Given the description of an element on the screen output the (x, y) to click on. 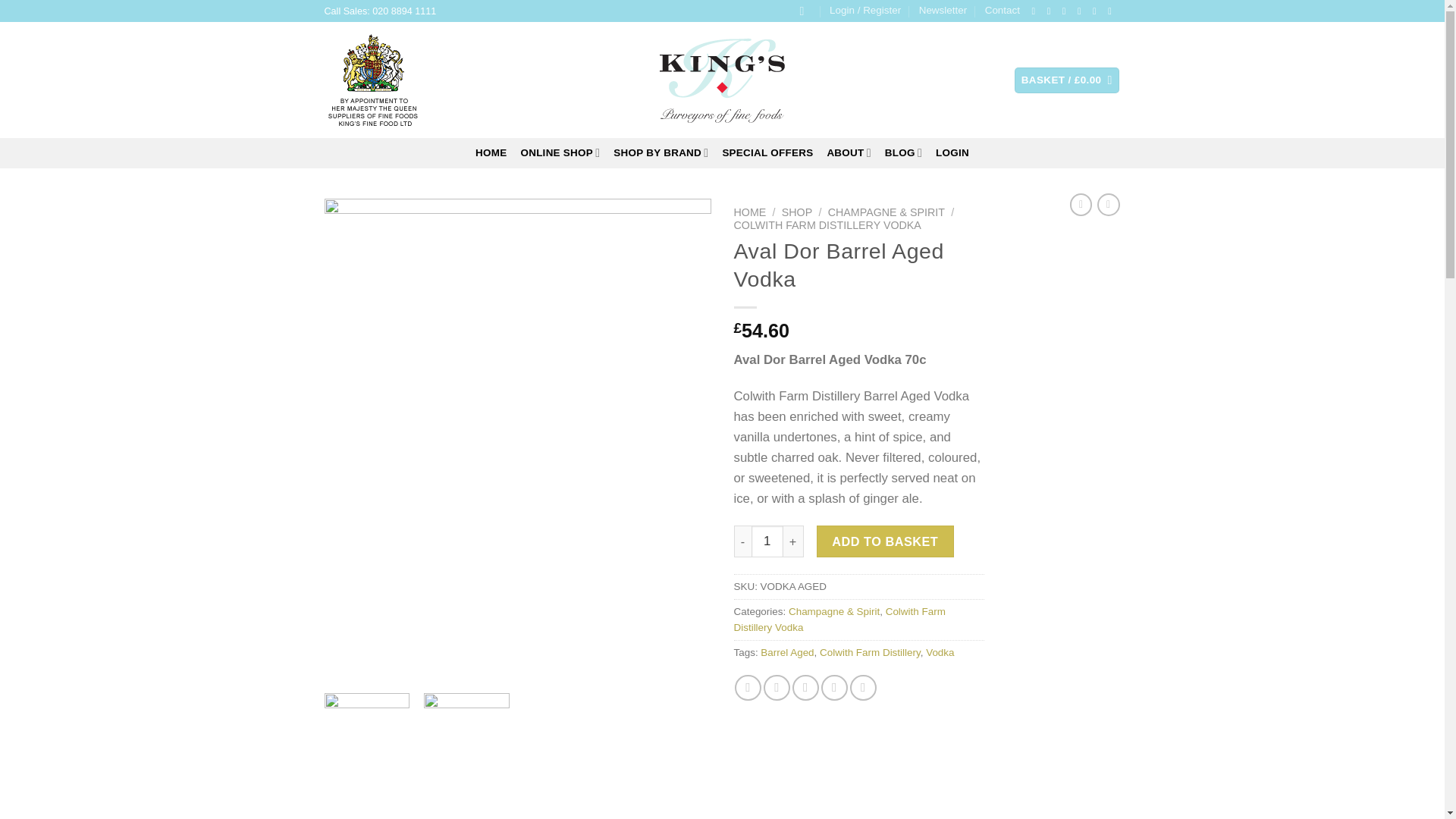
Send us an email (1082, 10)
Login (865, 10)
HOME (491, 152)
Newsletter (942, 10)
Follow on YouTube (1113, 10)
Follow on Facebook (1035, 10)
Follow on Instagram (1051, 10)
1 (767, 541)
Follow on Twitter (1066, 10)
